Given the description of an element on the screen output the (x, y) to click on. 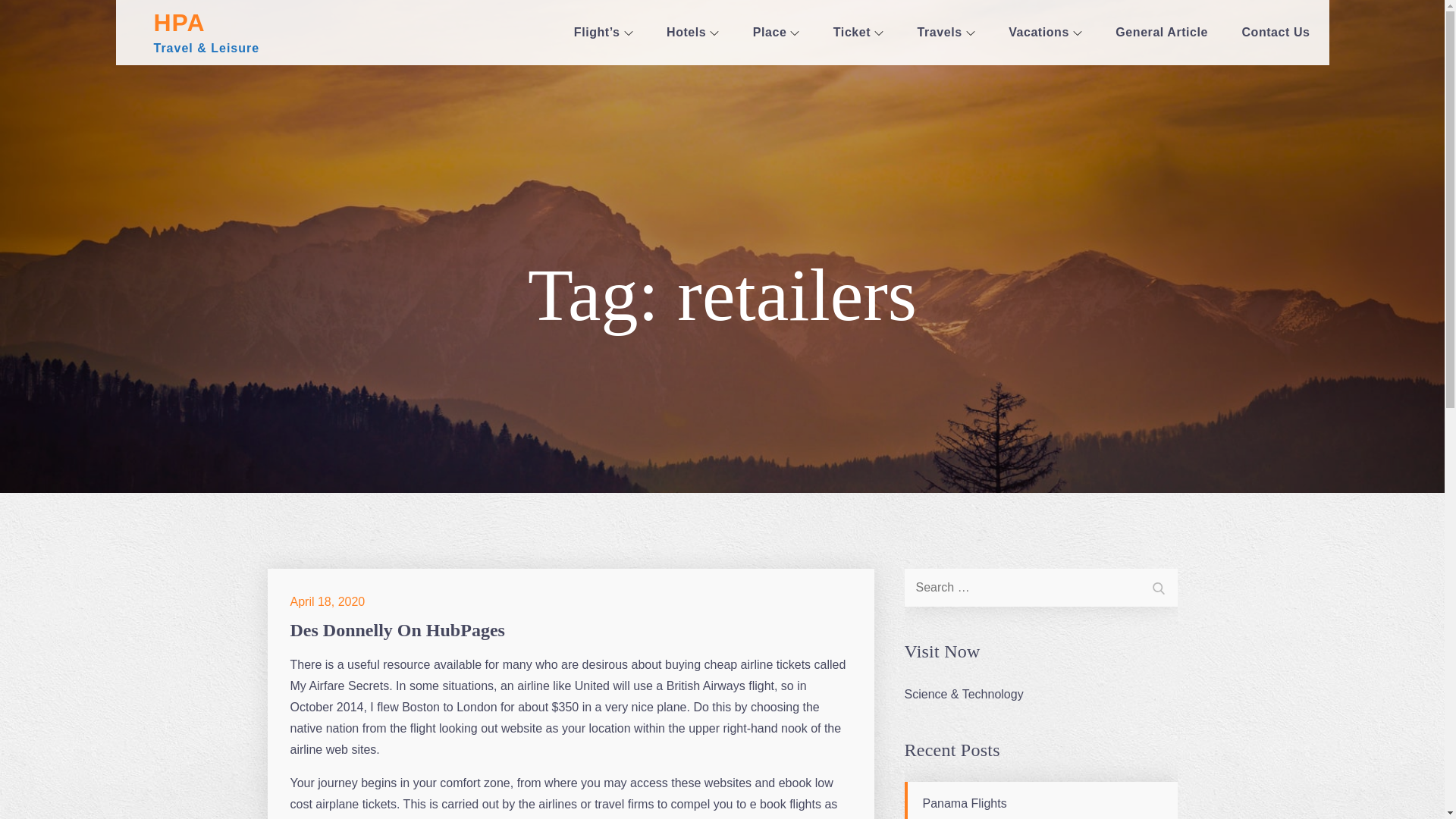
Hotels (691, 32)
Contact Us (1274, 32)
Ticket (858, 32)
General Article (1161, 32)
Place (776, 32)
April 18, 2020 (327, 601)
Des Donnelly On HubPages (396, 629)
HPA (178, 22)
Travels (946, 32)
Vacations (1044, 32)
